Given the description of an element on the screen output the (x, y) to click on. 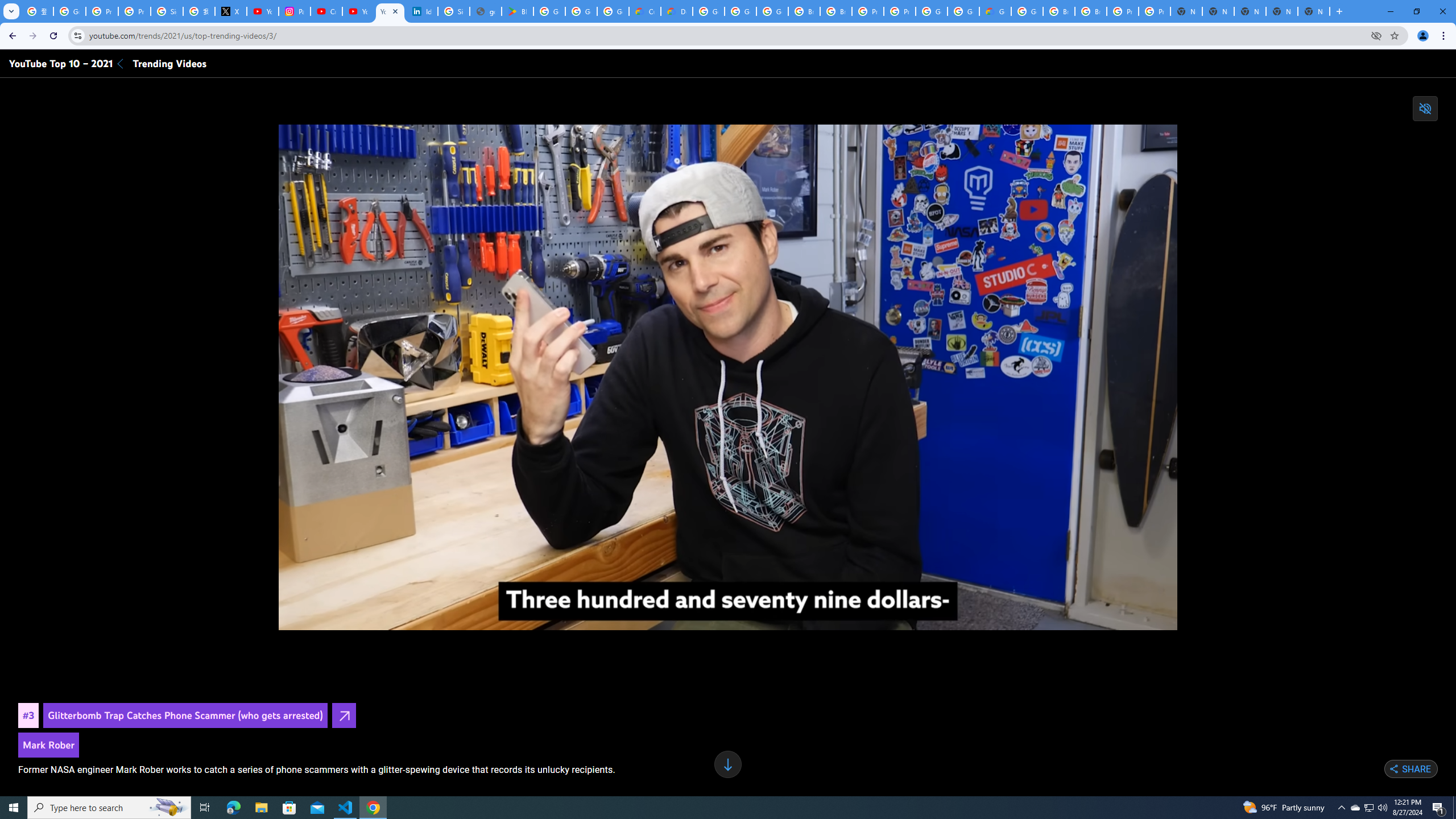
YouTube Content Monetization Policies - How YouTube Works (262, 11)
Google Cloud Platform (708, 11)
Google Workspace - Specific Terms (581, 11)
Bluey: Let's Play! - Apps on Google Play (517, 11)
Google Cloud Platform (963, 11)
Sign in - Google Accounts (166, 11)
Share on Facebook (1349, 768)
